Given the description of an element on the screen output the (x, y) to click on. 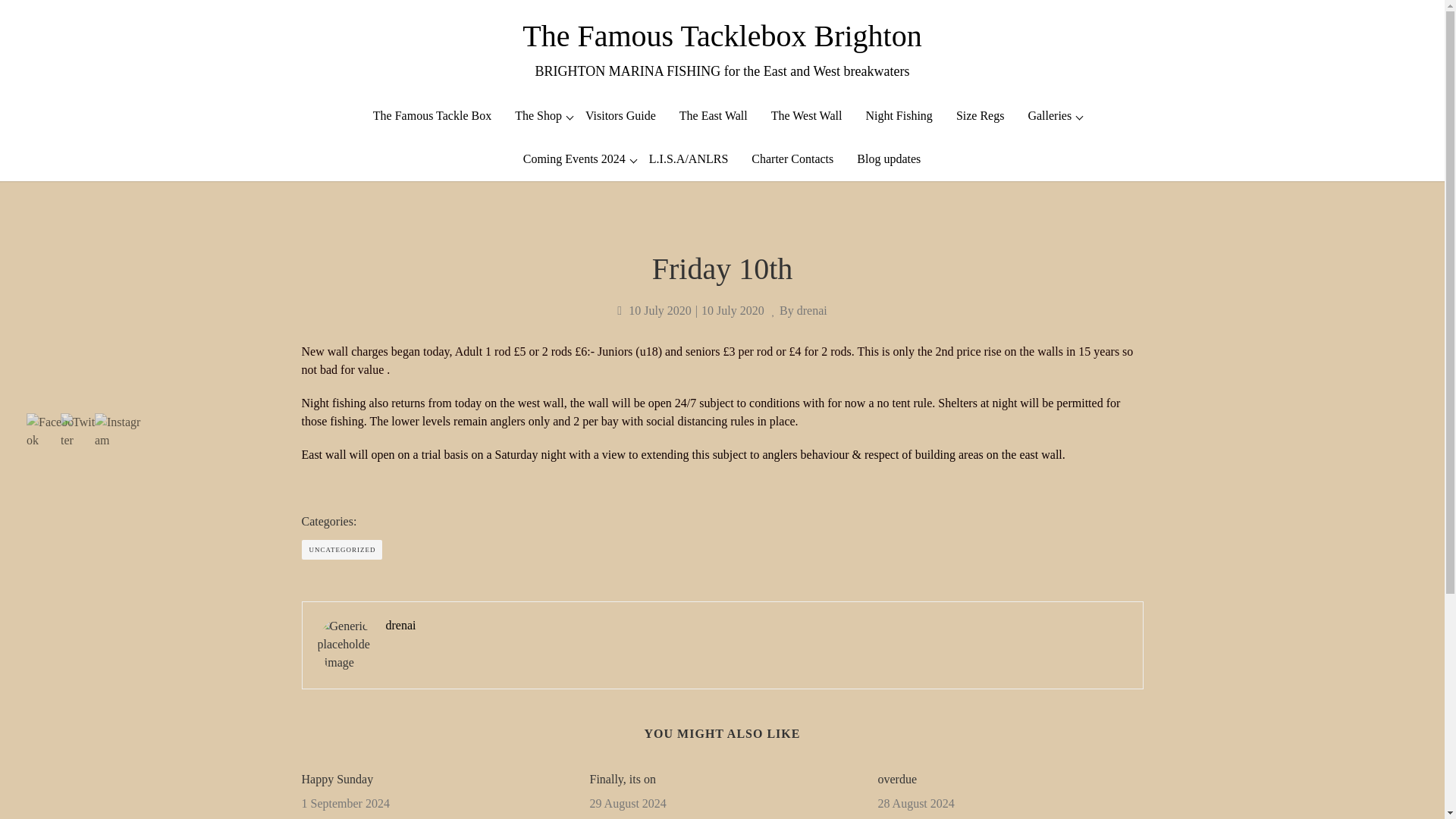
overdue (1009, 779)
The West Wall (806, 115)
Visitors Guide (620, 115)
The East Wall (713, 115)
The Famous Tacklebox Brighton (721, 39)
Galleries (1050, 115)
The Famous Tackle Box (431, 115)
10 July 202010 July 2020 (689, 311)
Night Fishing (899, 115)
Coming Events 2024 (573, 158)
